Given the description of an element on the screen output the (x, y) to click on. 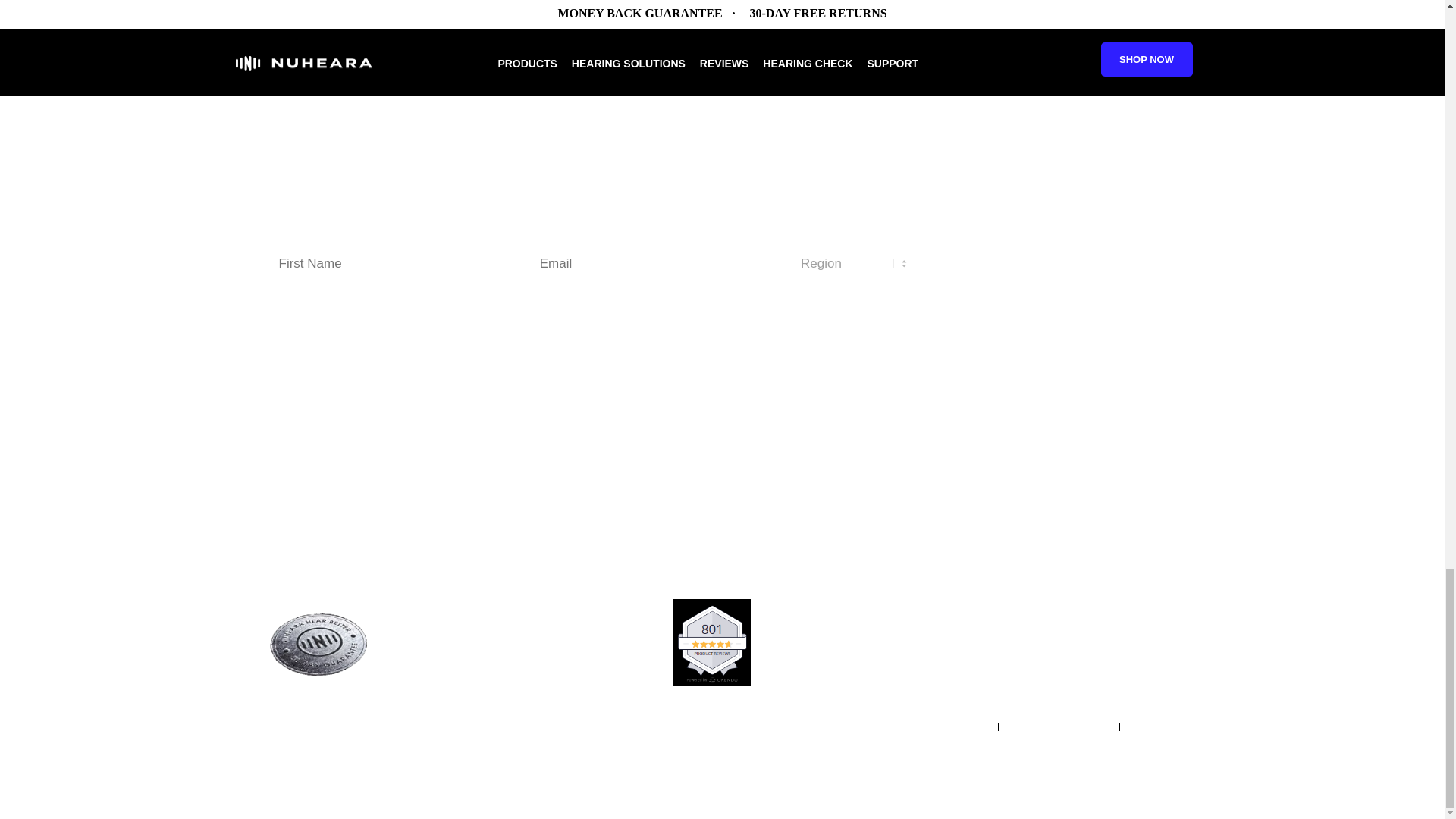
Bluetooth Transmitter (351, 484)
IQstream TV (331, 466)
IQbuds2 MAX (334, 448)
SIGN UP (1004, 263)
Privacy Policy (789, 314)
